Given the description of an element on the screen output the (x, y) to click on. 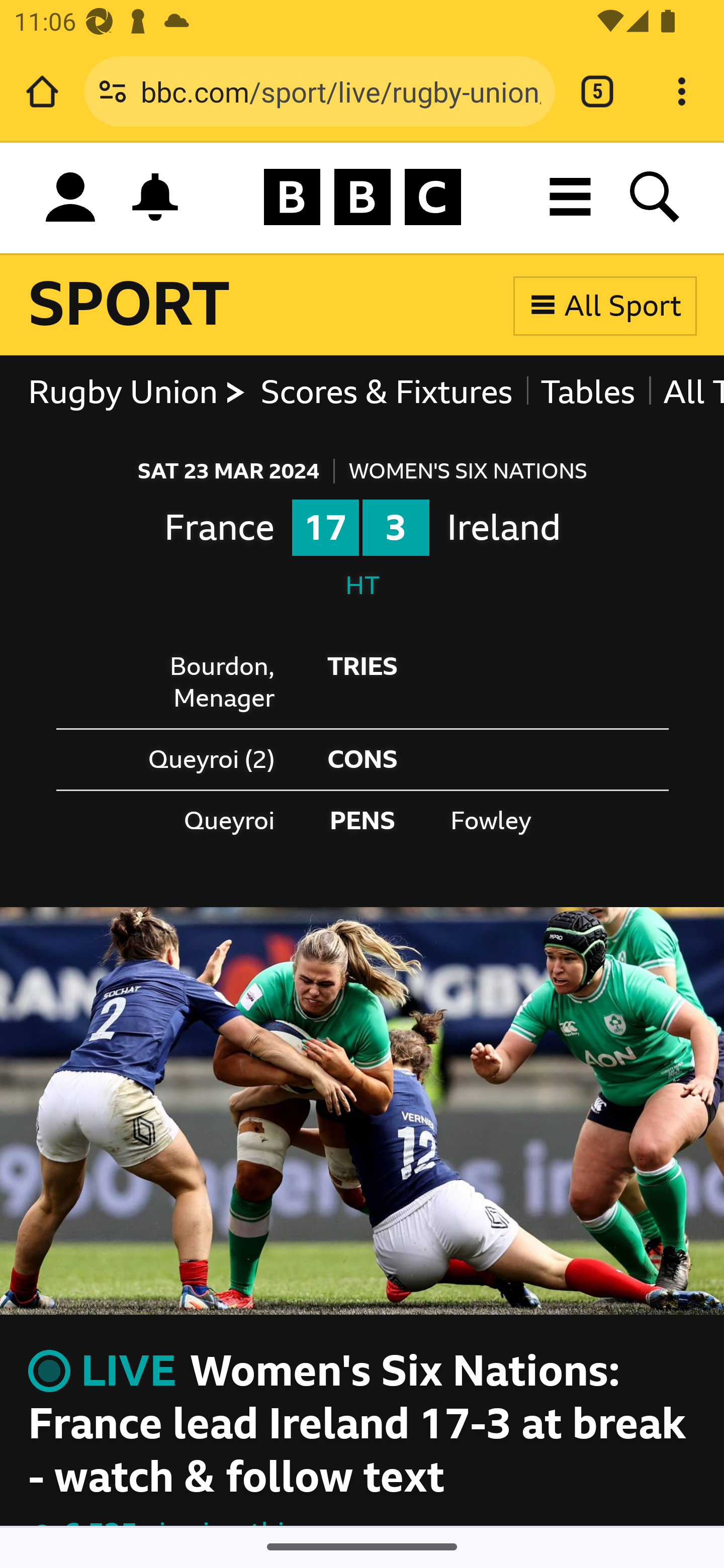
Open the home page (42, 91)
Connection is secure (112, 91)
Switch or close tabs (597, 91)
Customize and control Google Chrome (681, 91)
bbc.com/sport/live/rugby-union/67811387 (340, 90)
Notifications (155, 197)
All BBC destinations menu (570, 197)
Search BBC (655, 197)
Sign in (70, 198)
Homepage (361, 198)
BBC SPORT BBC SPORT (129, 304)
 All Sport (604, 304)
Rugby Union  (137, 392)
Scores & Fixtures (386, 392)
Tables (587, 392)
